Given the description of an element on the screen output the (x, y) to click on. 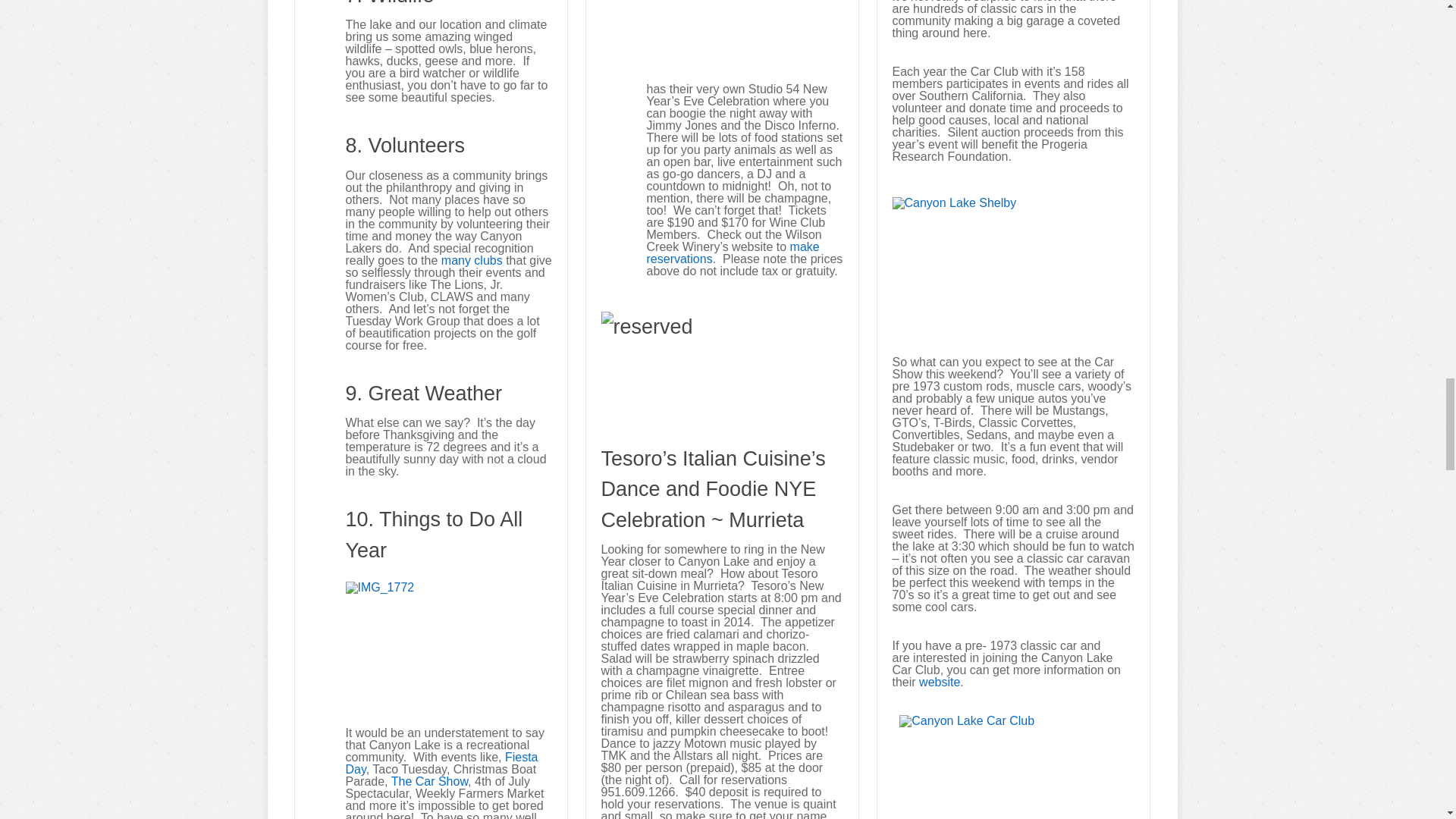
Canyon Lake Clubs and Organizations (471, 259)
make reservations (732, 251)
